Given the description of an element on the screen output the (x, y) to click on. 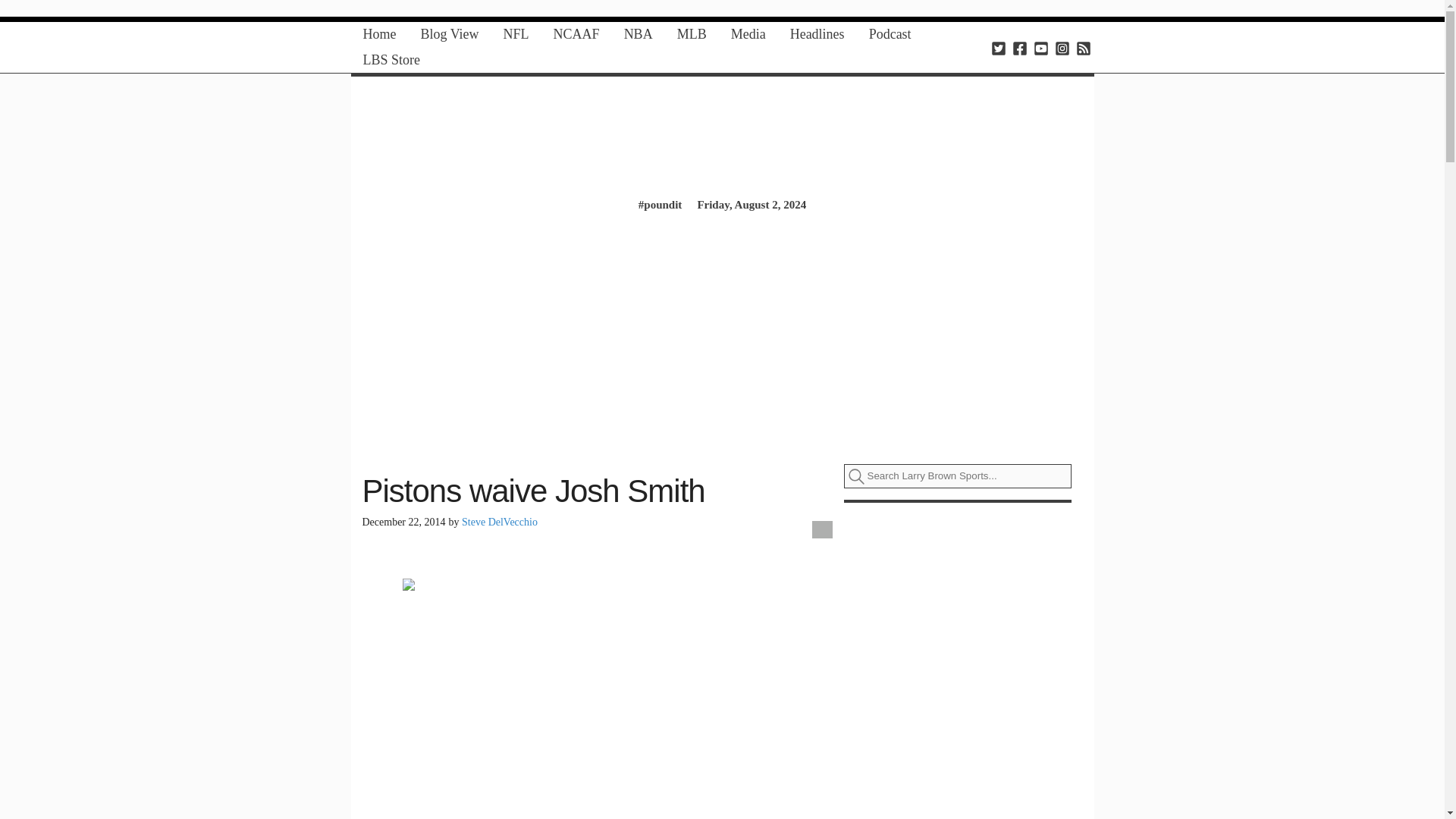
View Larry Brown Sports Instagram (1061, 47)
NBA (638, 34)
LBS Store (391, 59)
Podcast (890, 34)
Steve DelVecchio (499, 521)
View Larry Brown Sports Youtube (1040, 47)
NFL (516, 34)
View Larry Brown Sports Facebook (1018, 47)
NCAAF (576, 34)
Headlines (817, 34)
MLB (692, 34)
Subscribe to Larry Brown Sports RSS Feed (1082, 47)
Home (378, 34)
Media (748, 34)
View Larry Brown Sports Twitter (998, 47)
